Given the description of an element on the screen output the (x, y) to click on. 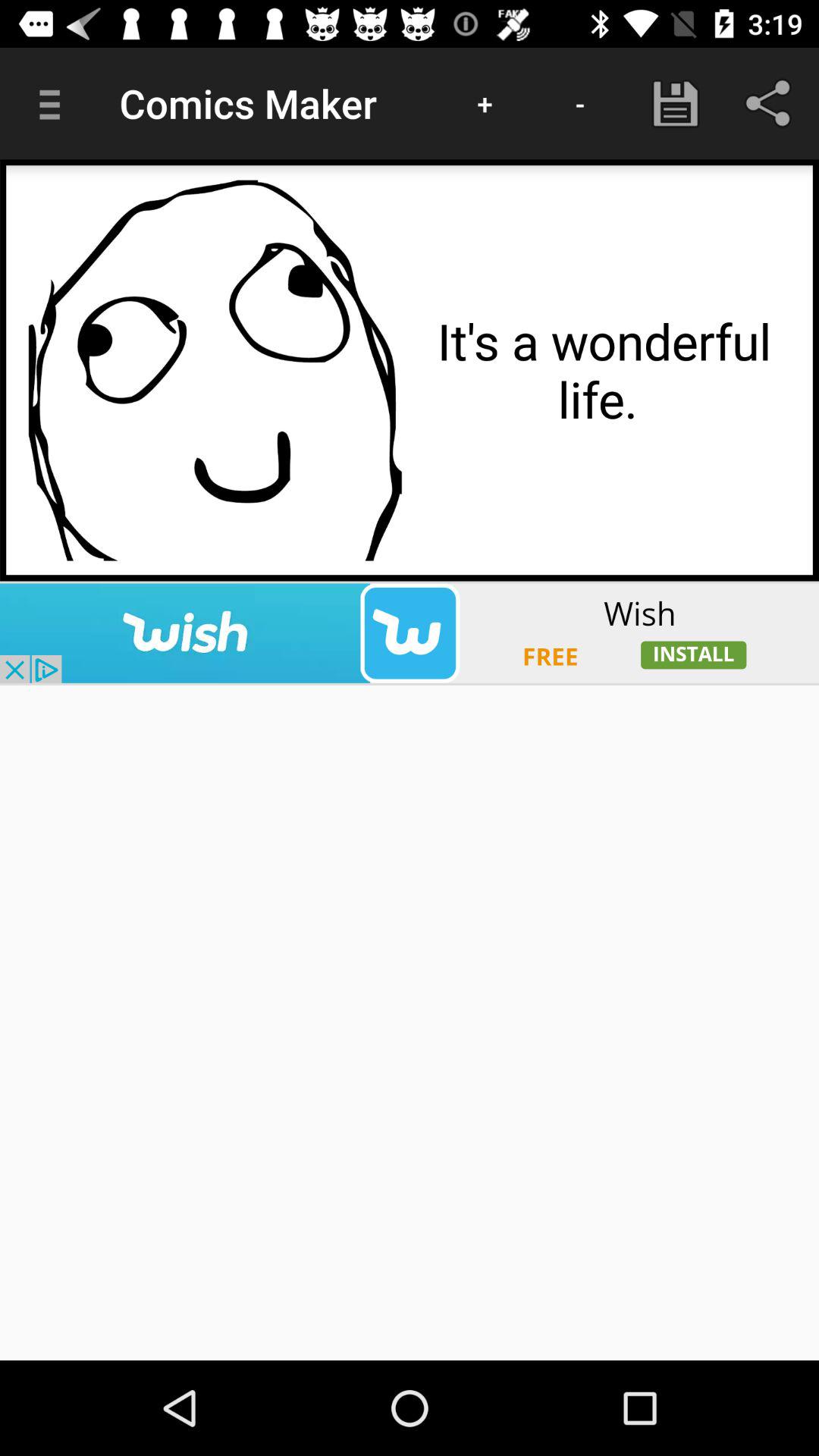
app installation (409, 633)
